Given the description of an element on the screen output the (x, y) to click on. 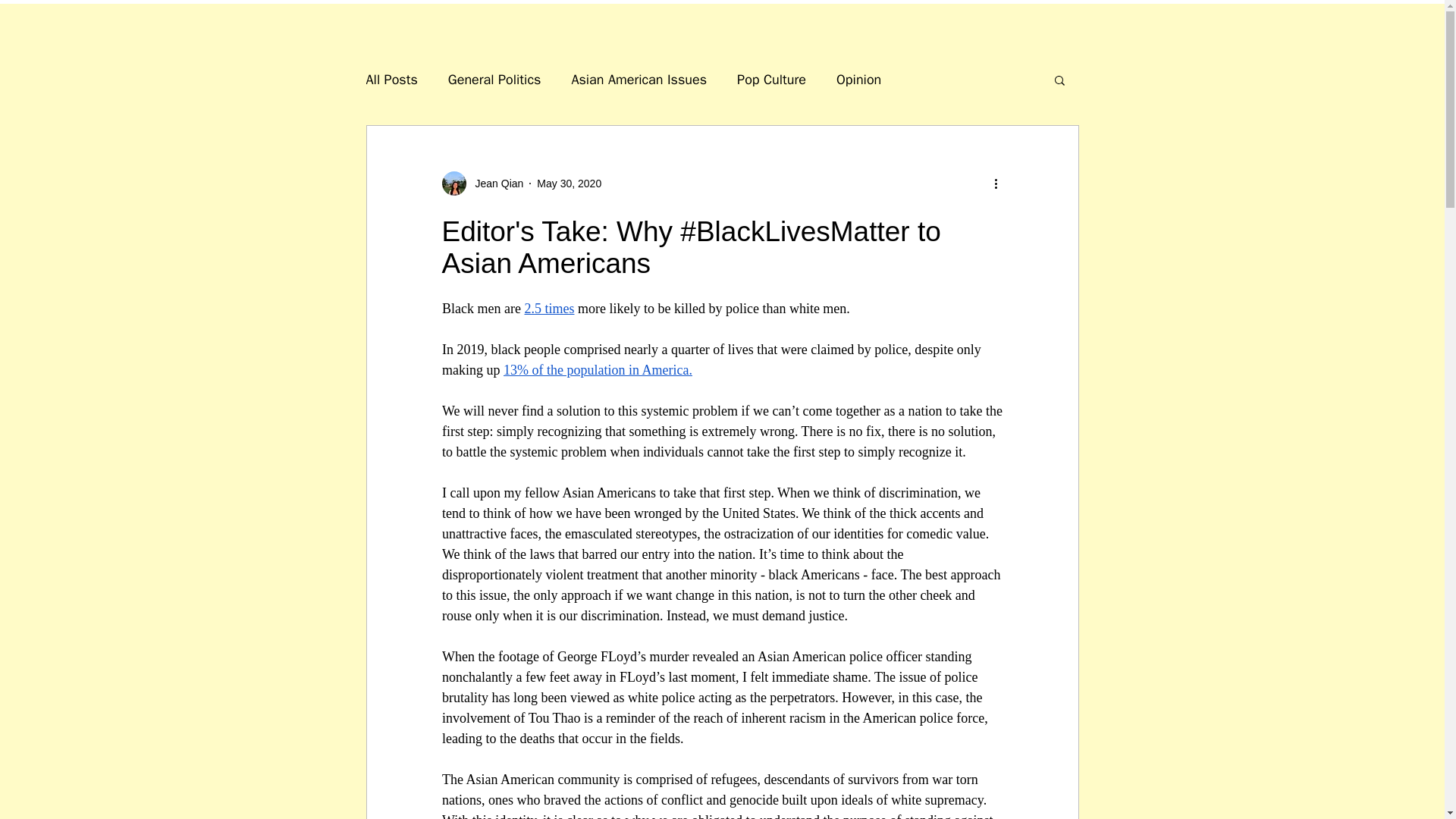
Opinion (857, 79)
General Politics (494, 79)
Jean Qian (481, 183)
All Posts (390, 79)
Pop Culture (771, 79)
Jean Qian (493, 183)
2.5 times (548, 308)
Asian American Issues (638, 79)
May 30, 2020 (569, 183)
